Given the description of an element on the screen output the (x, y) to click on. 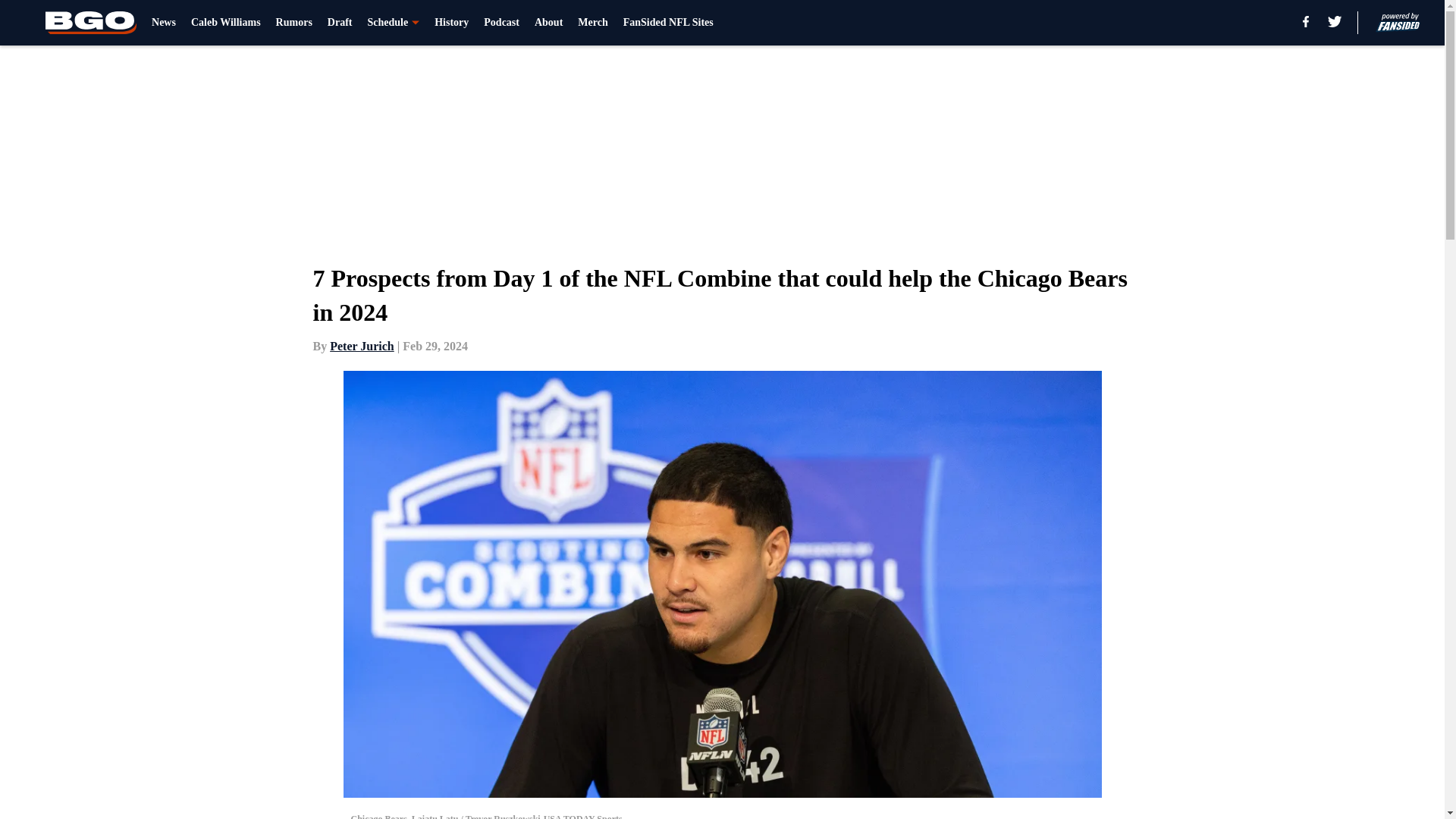
Rumors (294, 22)
Draft (339, 22)
FanSided NFL Sites (668, 22)
History (450, 22)
About (548, 22)
News (163, 22)
Peter Jurich (362, 345)
Caleb Williams (225, 22)
Merch (592, 22)
Podcast (501, 22)
